Given the description of an element on the screen output the (x, y) to click on. 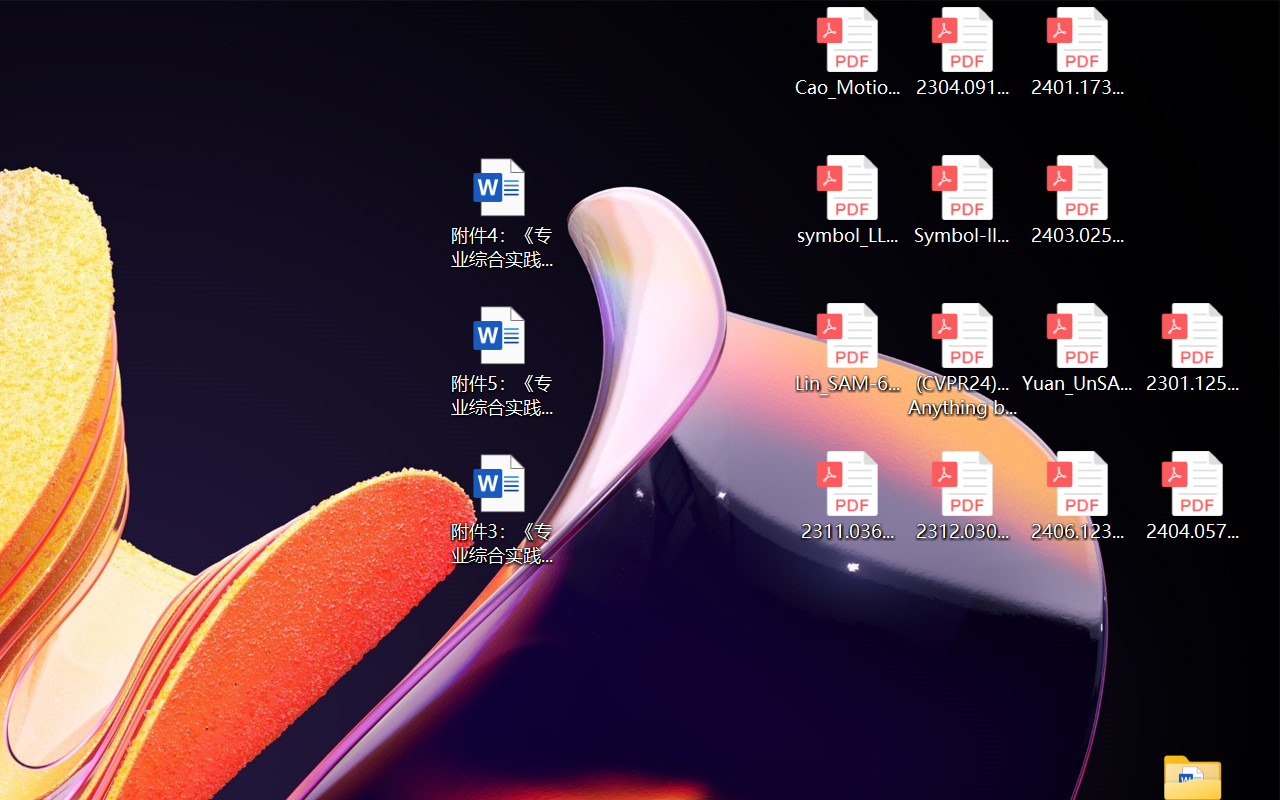
2401.17399v1.pdf (1077, 52)
